Given the description of an element on the screen output the (x, y) to click on. 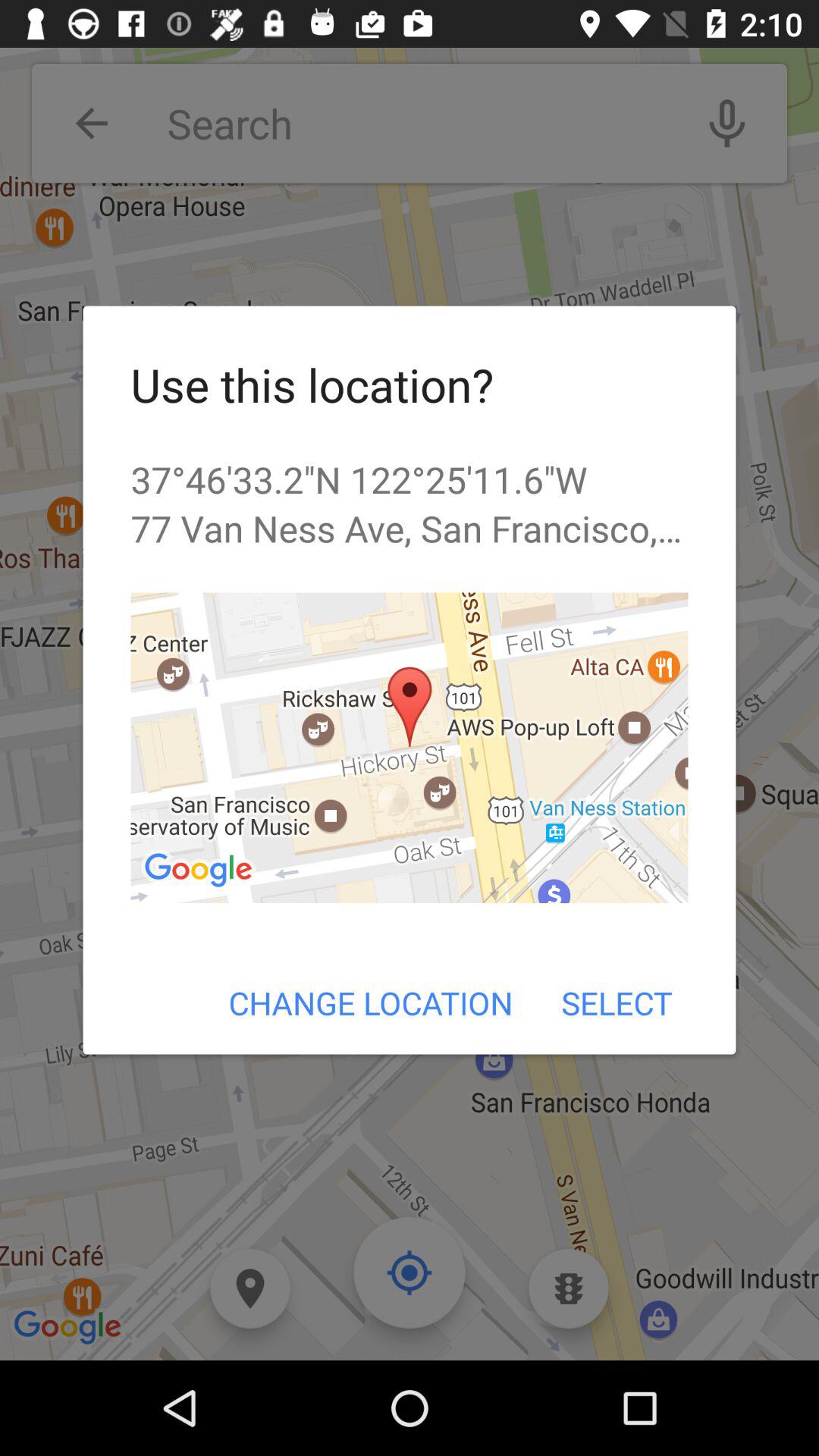
choose the select icon (616, 1002)
